Given the description of an element on the screen output the (x, y) to click on. 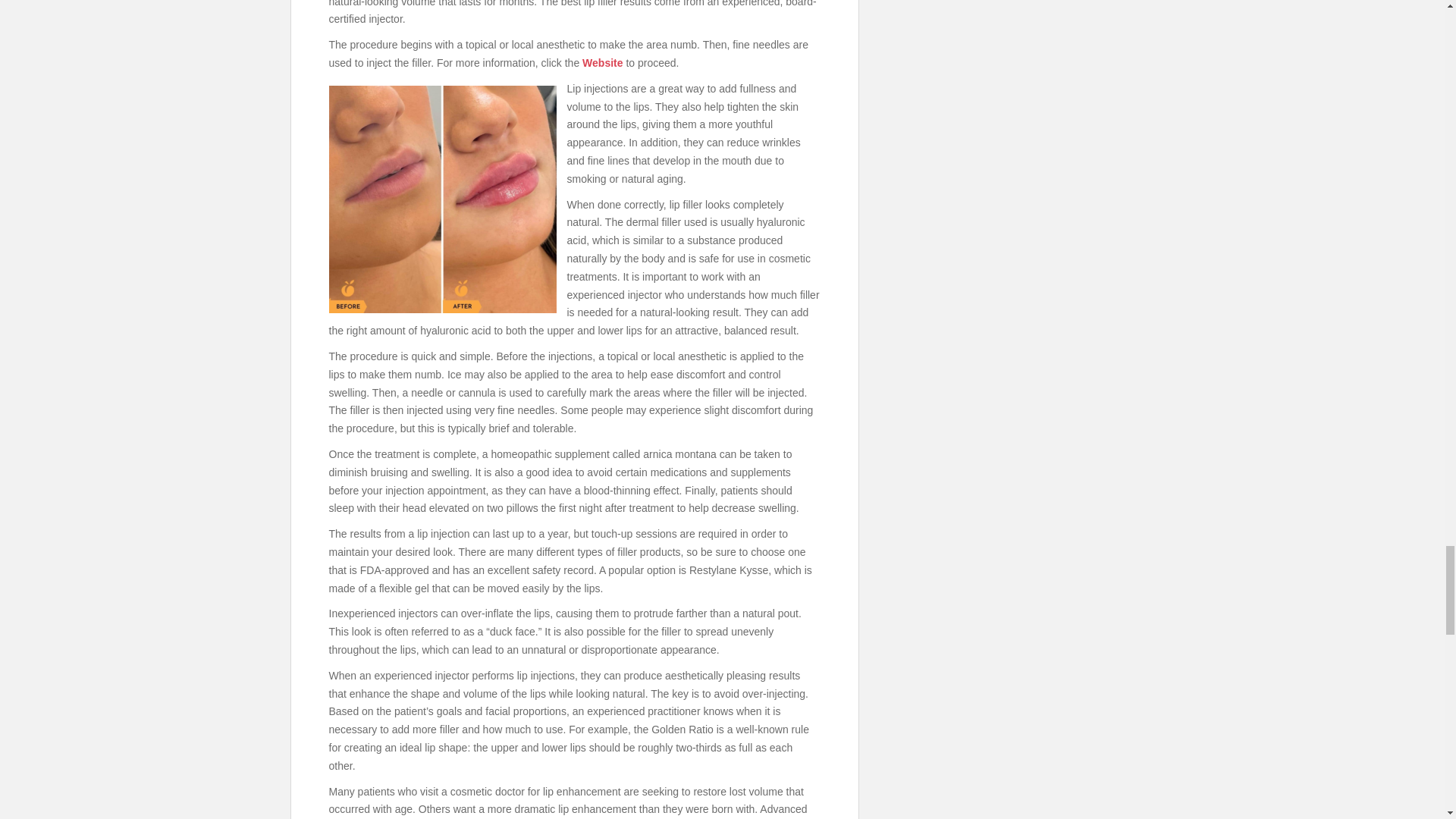
Website (602, 62)
